Given the description of an element on the screen output the (x, y) to click on. 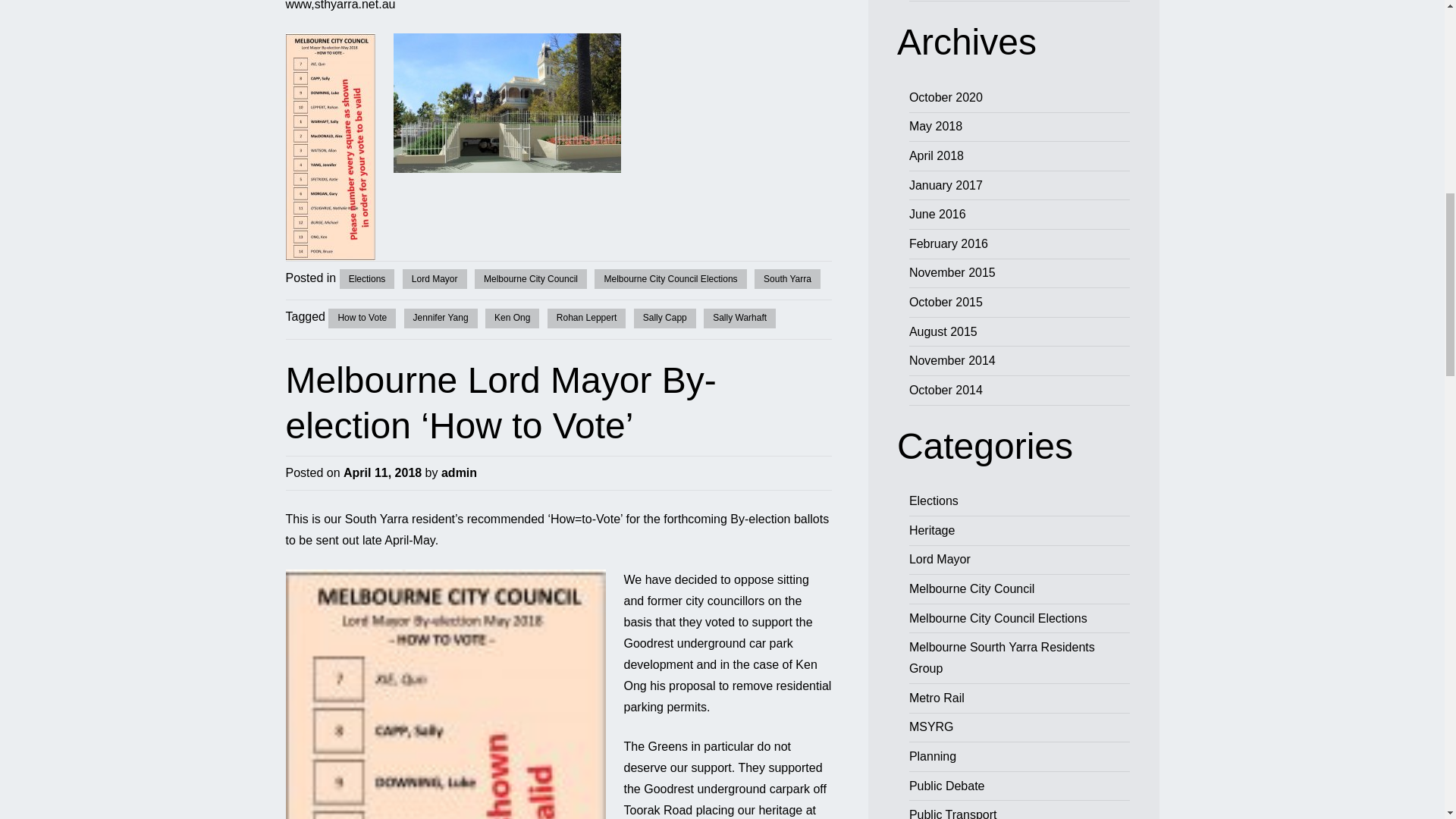
Lord Mayor (435, 279)
How to Vote (362, 318)
April 11, 2018 (382, 472)
Elections (366, 279)
Melbourne City Council Elections (669, 279)
View all posts by admin (459, 472)
admin (459, 472)
Ken Ong (511, 318)
14:21 (382, 472)
Jennifer Yang (440, 318)
Sally Capp (664, 318)
Sally Warhaft (739, 318)
Rohan Leppert (586, 318)
Melbourne City Council (530, 279)
South Yarra (787, 279)
